Given the description of an element on the screen output the (x, y) to click on. 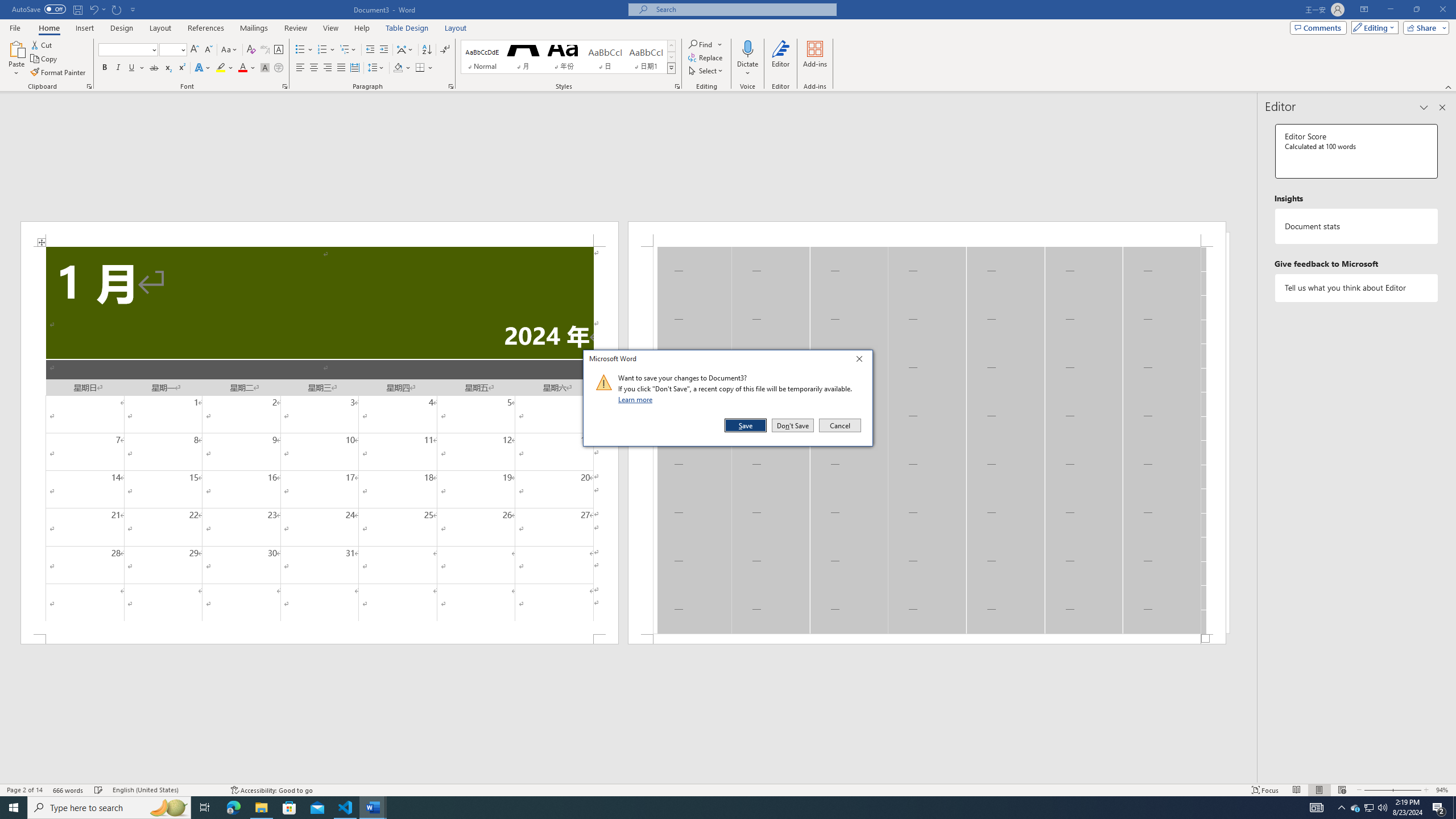
Text Highlight Color Yellow (220, 67)
Paste (16, 48)
Align Right (327, 67)
Enclose Characters... (278, 67)
AutomationID: 4105 (1316, 807)
Review (295, 28)
Visual Studio Code - 1 running window (345, 807)
Tell us what you think about Editor (1356, 288)
Repeat Doc Close (117, 9)
Don't Save (792, 425)
Font Size (169, 49)
AutomationID: QuickStylesGallery (568, 56)
File Tab (15, 27)
